Given the description of an element on the screen output the (x, y) to click on. 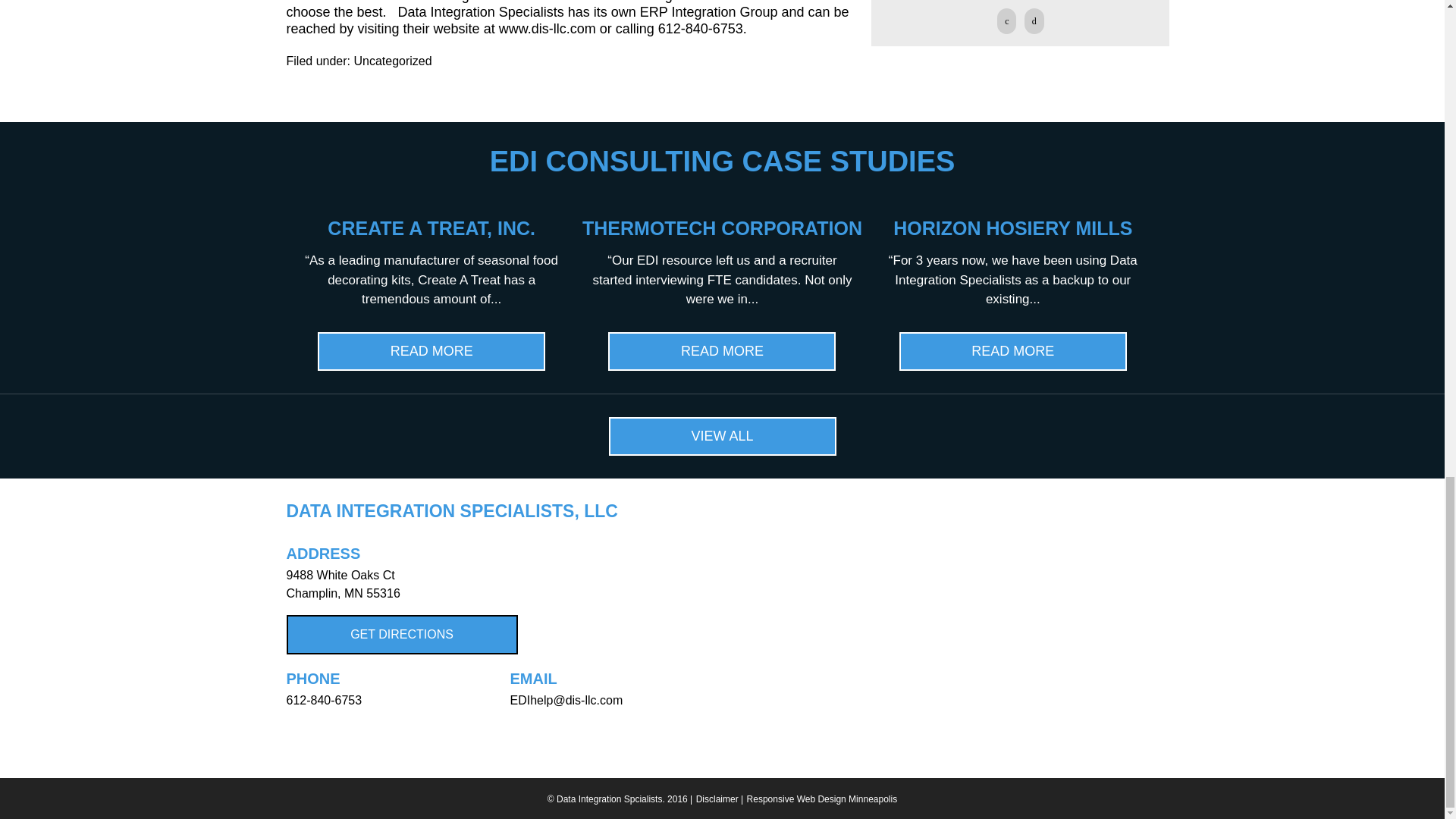
GET DIRECTIONS (402, 634)
CREATE A TREAT, INC. (431, 228)
Responsive Web Design Minneapolis (822, 798)
Uncategorized (391, 60)
612-840-6753 (324, 699)
Disclaimer (716, 798)
HORIZON HOSIERY MILLS (1012, 228)
THERMOTECH CORPORATION (721, 228)
VIEW ALL (721, 435)
READ MORE (721, 351)
READ MORE (430, 351)
READ MORE (1012, 351)
